Given the description of an element on the screen output the (x, y) to click on. 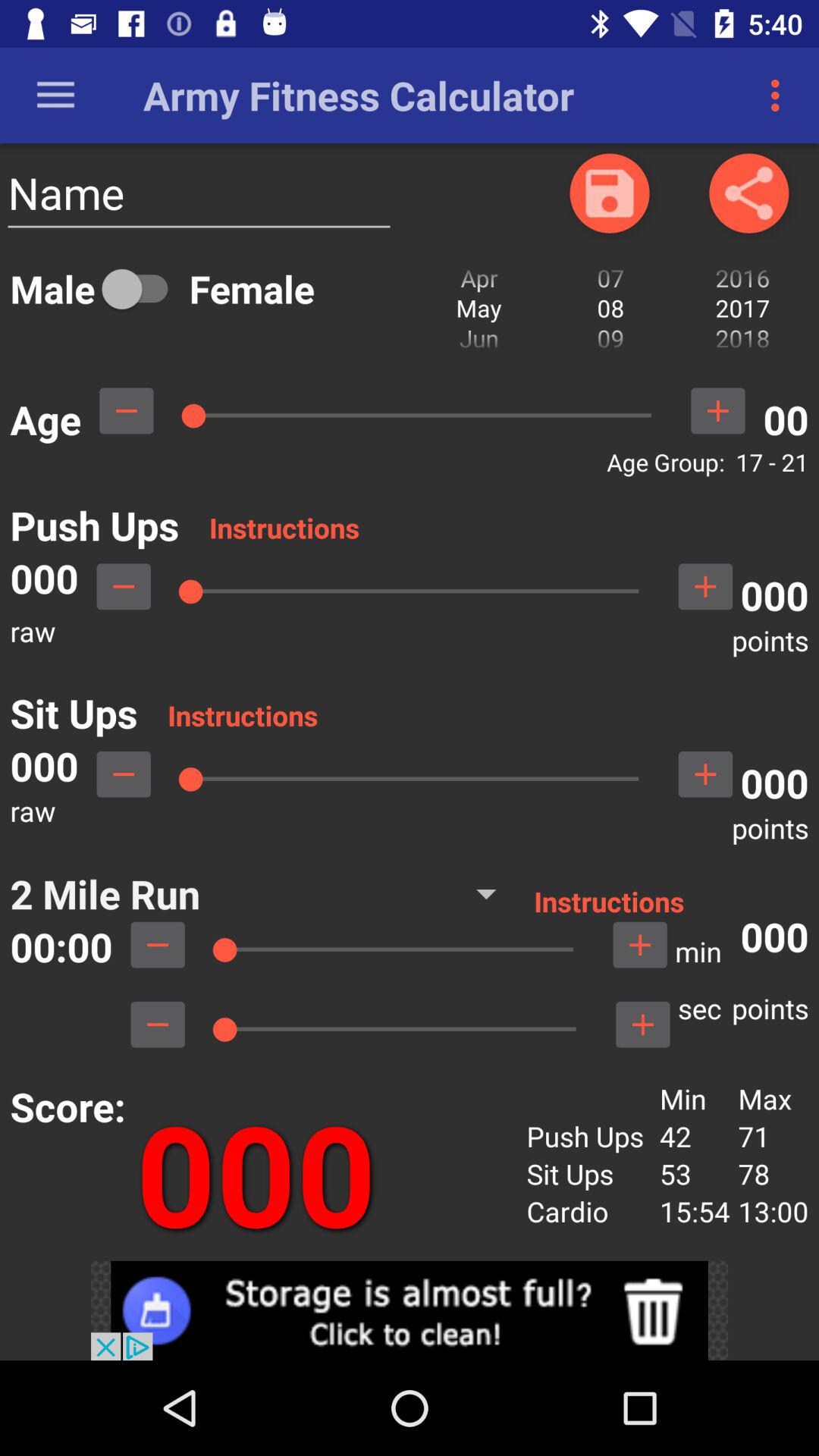
click on add button to add (642, 1024)
